Given the description of an element on the screen output the (x, y) to click on. 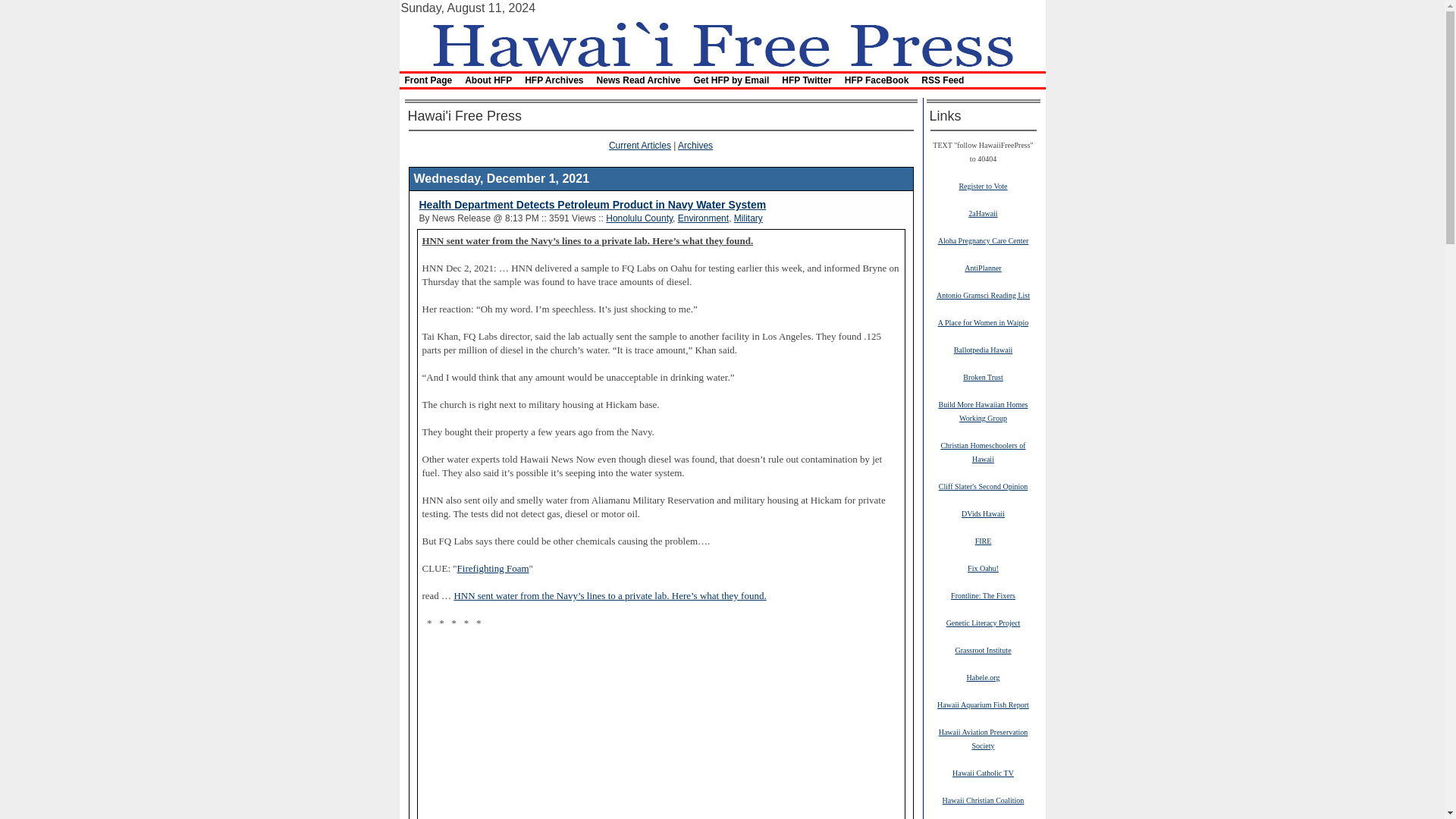
Antonio Gramsci Reading List (982, 294)
Archives (695, 145)
Aloha Pregnancy Care Center (983, 240)
Build More Hawaiian Homes Working Group (982, 410)
Broken Trust (982, 376)
Register to Vote (982, 185)
2aHawaii (982, 213)
AntiPlanner (982, 267)
A Place for Women in Waipio (982, 321)
Firefighting Foam (493, 568)
